Given the description of an element on the screen output the (x, y) to click on. 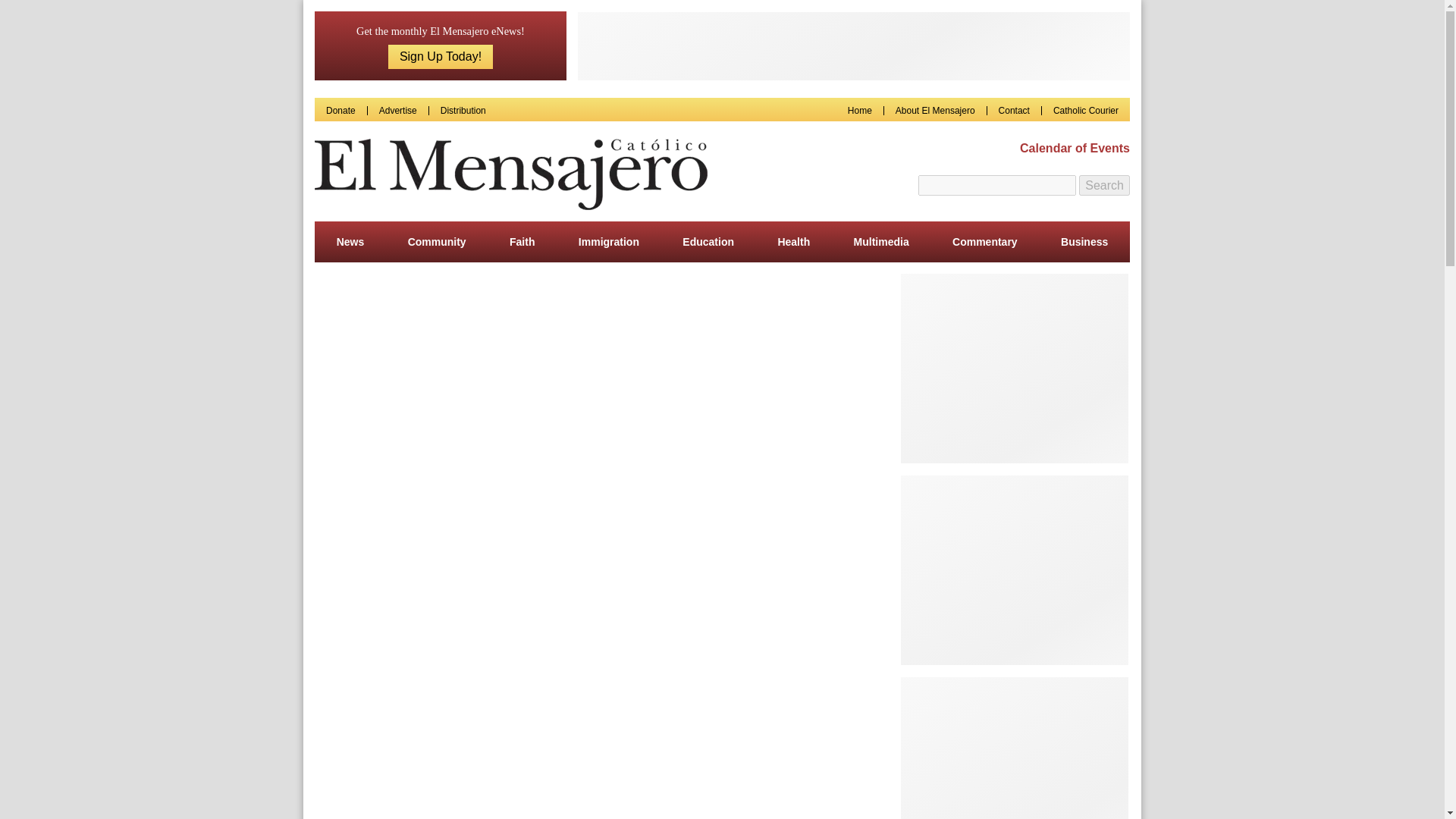
Sign Up Today! (440, 56)
Catholic Courier (1085, 110)
About El Mensajero (935, 110)
Community (436, 241)
3rd party ad content (853, 46)
Multimedia (881, 241)
News (349, 241)
Home (859, 110)
Advertise (397, 110)
Immigration (608, 241)
